Given the description of an element on the screen output the (x, y) to click on. 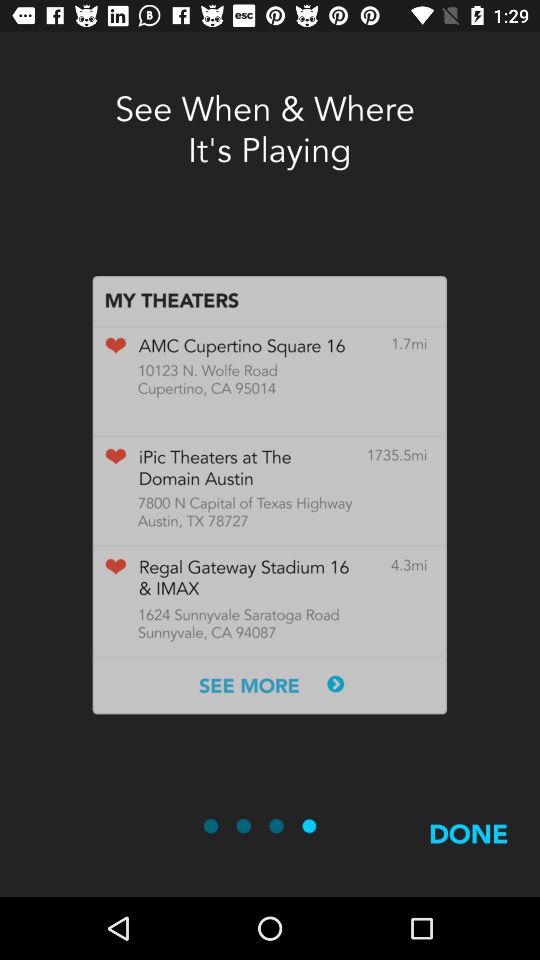
theater options (269, 495)
